Given the description of an element on the screen output the (x, y) to click on. 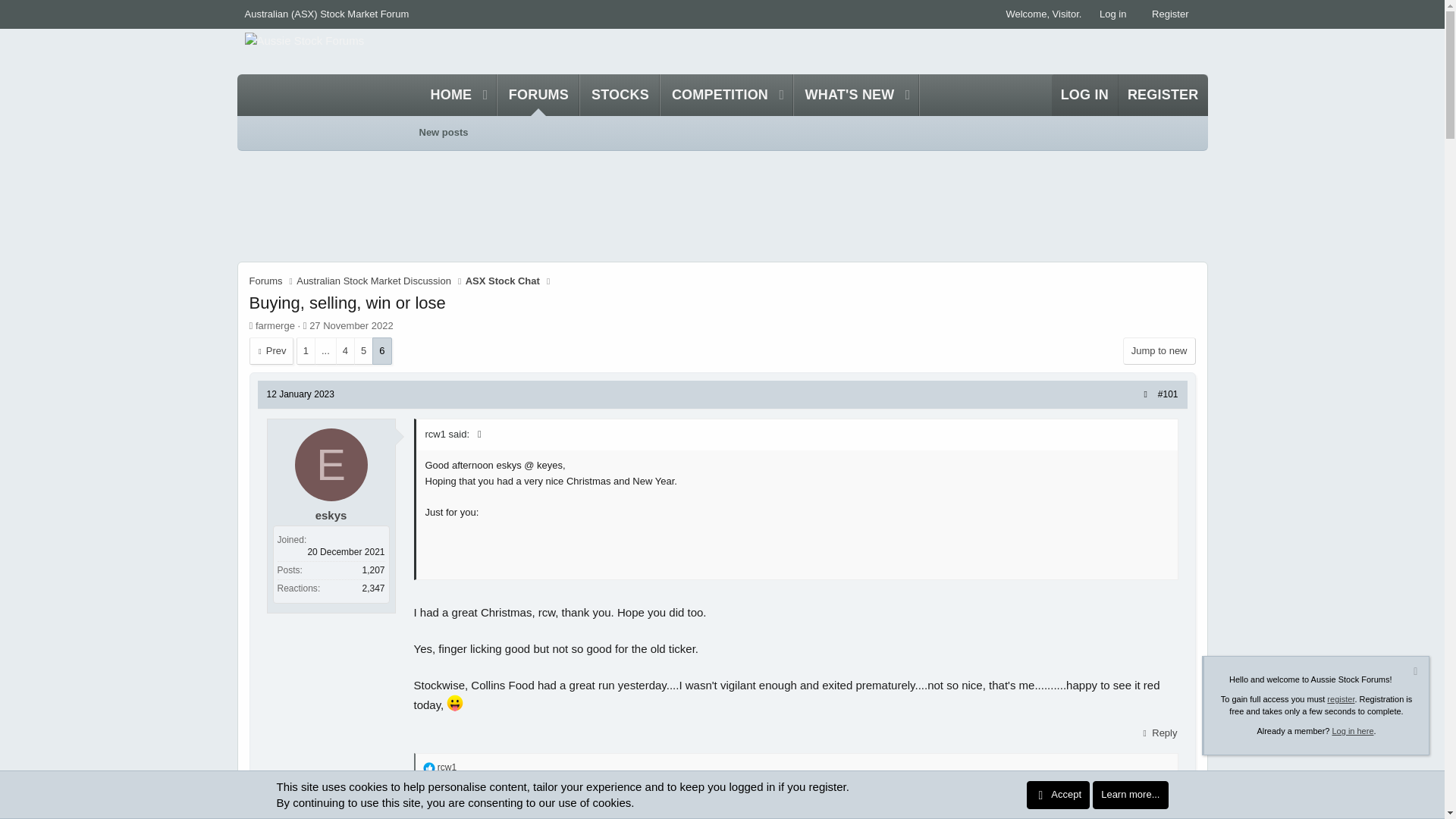
Reply, quoting this message (1158, 732)
27 November 2022 (350, 325)
12 January 2023 at 11:46 AM (300, 394)
WHAT'S NEW (844, 95)
Australian Stock Market Discussion (374, 281)
Prev (668, 95)
New posts (270, 350)
Stick Out Tongue    :p (443, 132)
COMPETITION (454, 702)
FORUMS (715, 95)
STOCKS (538, 95)
Forums (620, 95)
ASX Stock Chat (265, 281)
LOG IN (502, 281)
